Given the description of an element on the screen output the (x, y) to click on. 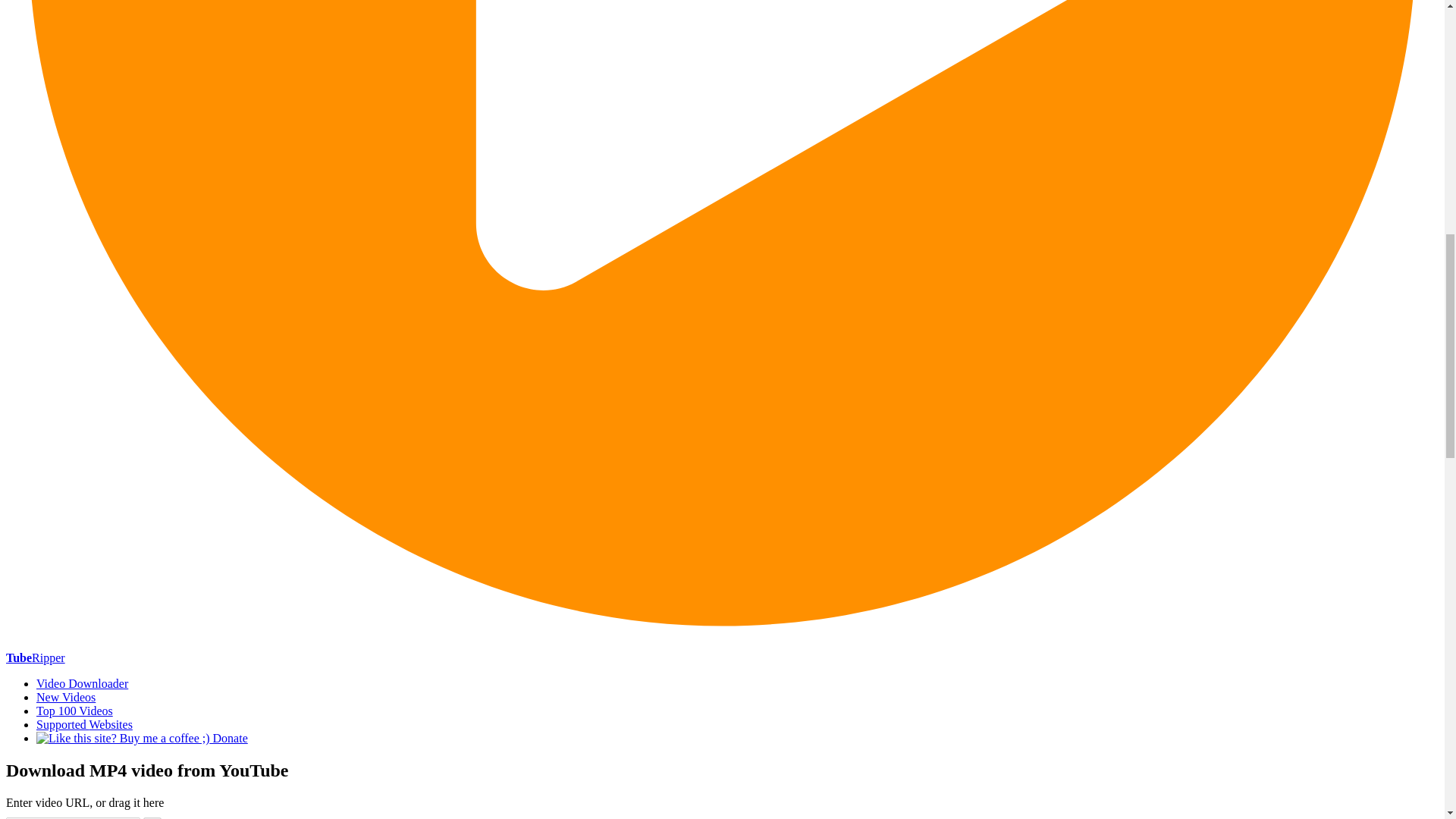
New Videos (66, 697)
Video Downloader (82, 683)
Donate (141, 738)
Supported Websites (84, 724)
Top 100 Videos (74, 710)
